Given the description of an element on the screen output the (x, y) to click on. 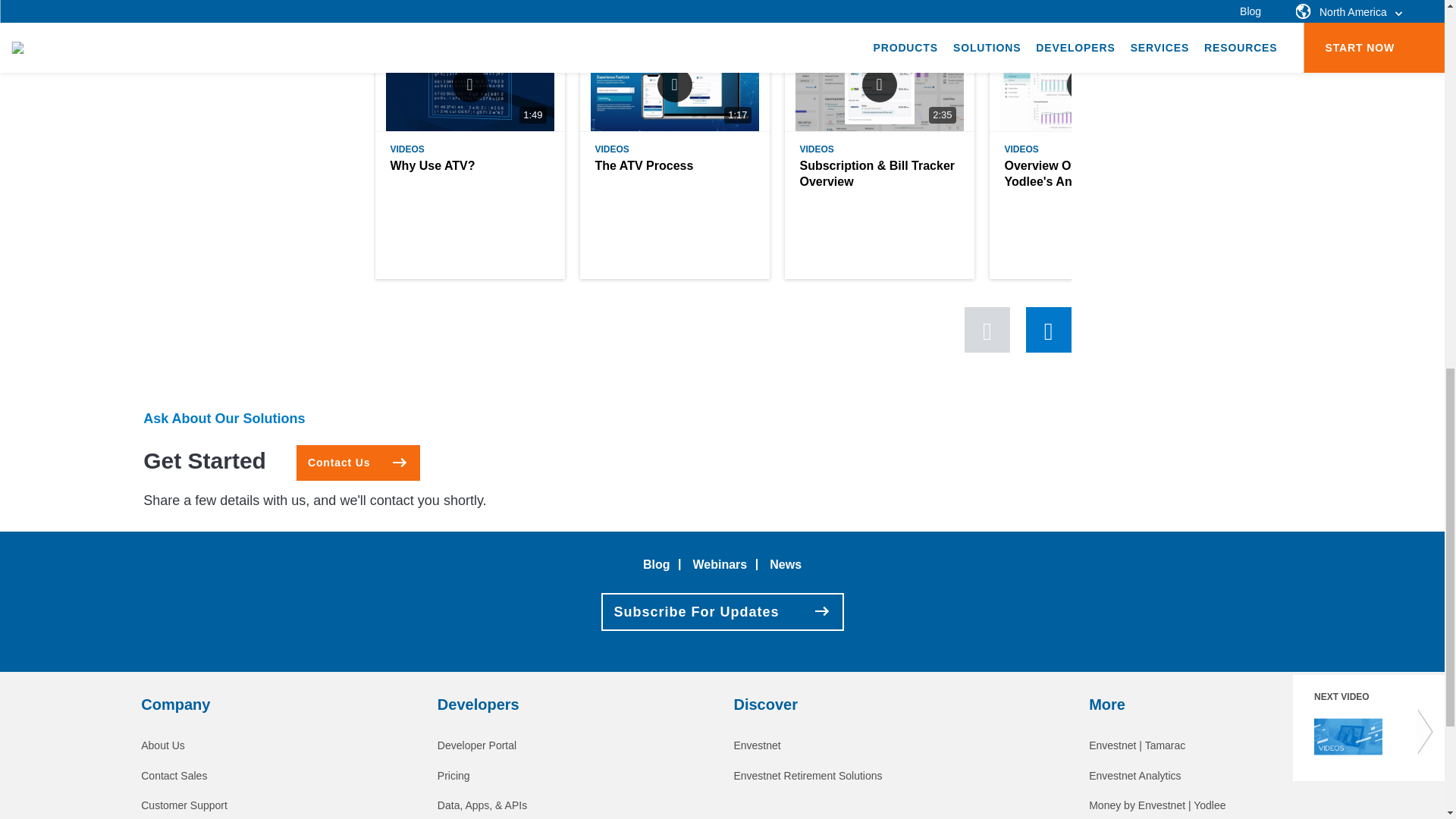
We Are The Market Leader in Financial Data Aggregation. (162, 745)
